Given the description of an element on the screen output the (x, y) to click on. 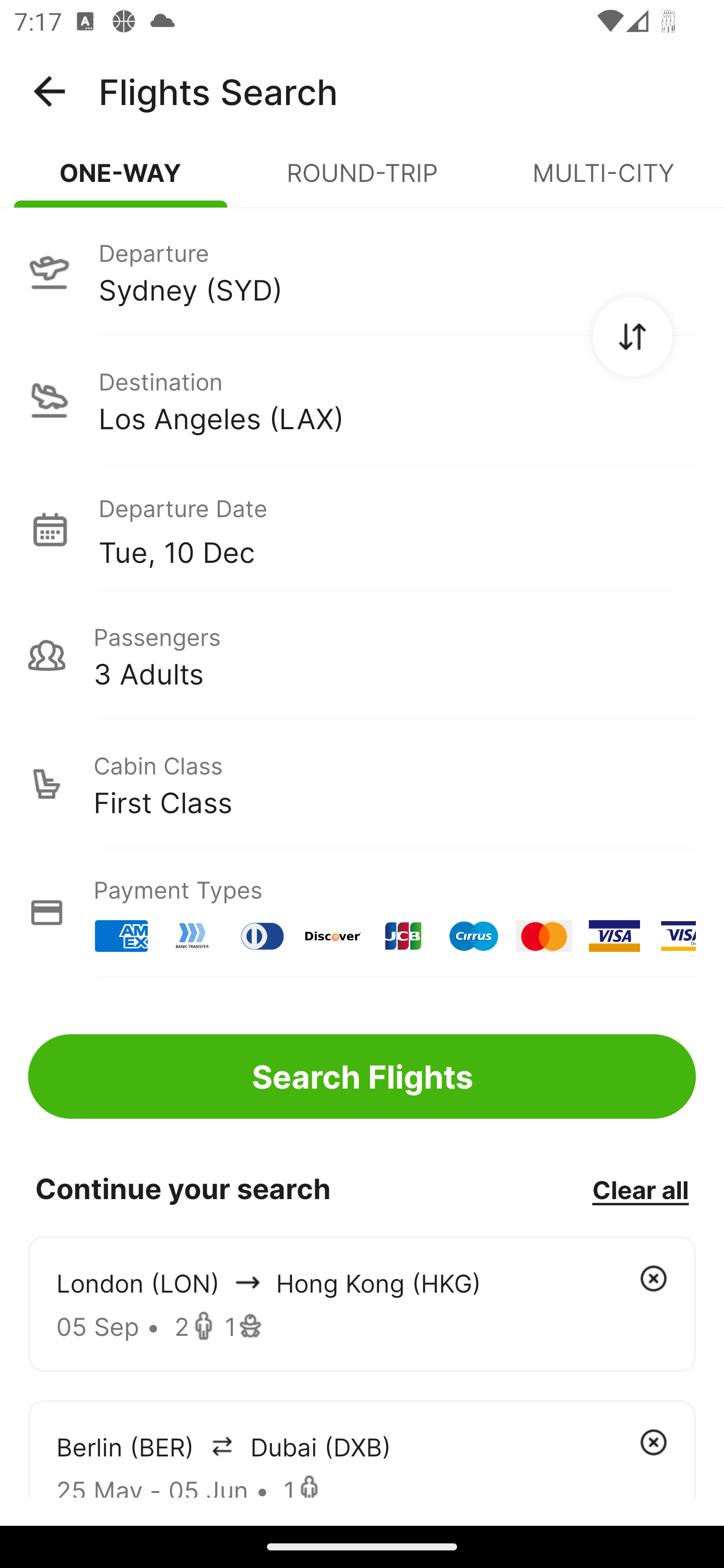
ONE-WAY (120, 180)
ROUND-TRIP (361, 180)
MULTI-CITY (603, 180)
Departure Sydney (SYD) (362, 270)
Destination Los Angeles (LAX) (362, 400)
Departure Date Tue, 10 Dec (396, 528)
Passengers 3 Adults (362, 655)
Cabin Class First Class (362, 783)
Payment Types (362, 912)
Search Flights (361, 1075)
Clear all (640, 1189)
